Given the description of an element on the screen output the (x, y) to click on. 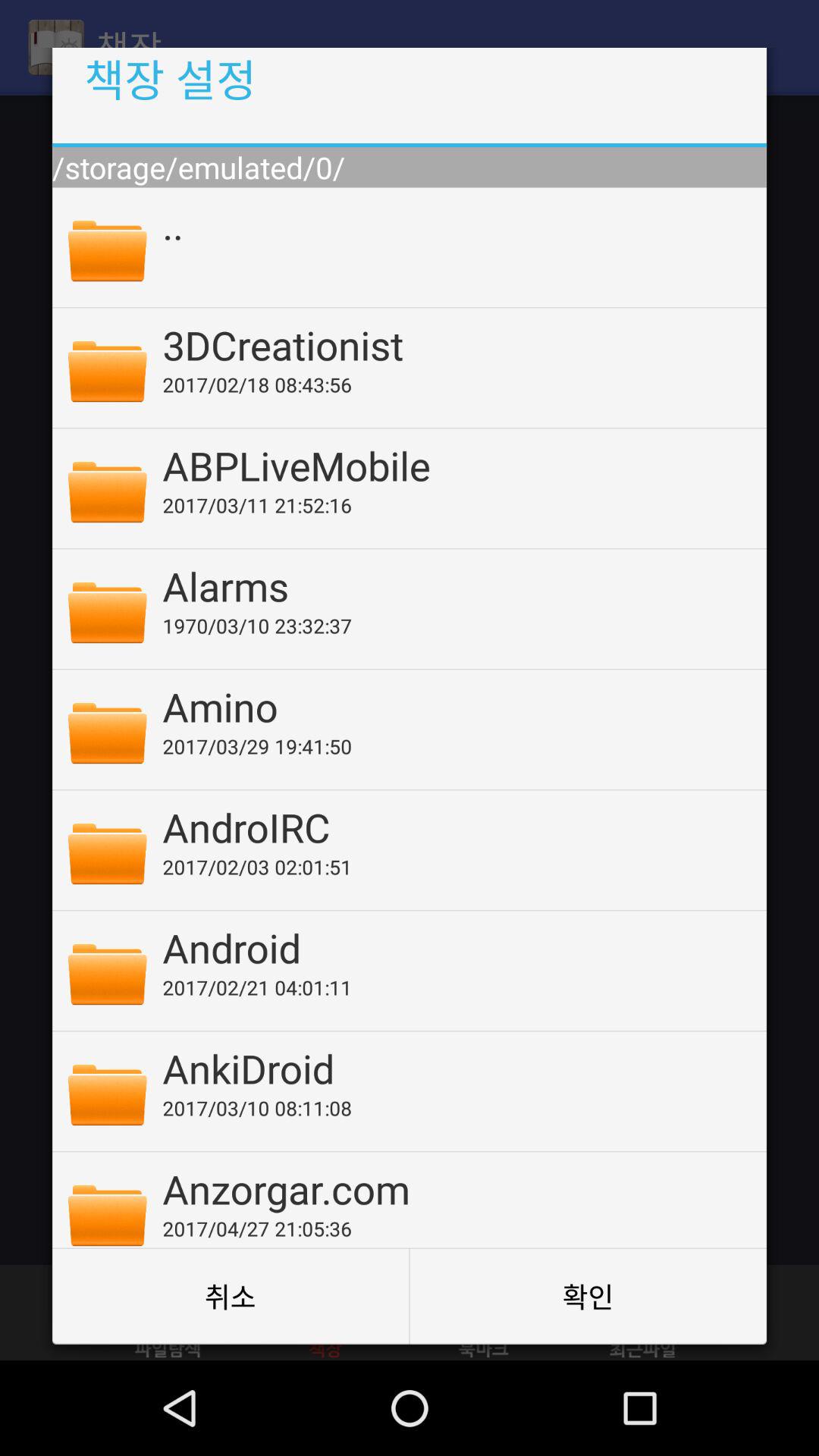
turn on alarms icon (454, 585)
